Given the description of an element on the screen output the (x, y) to click on. 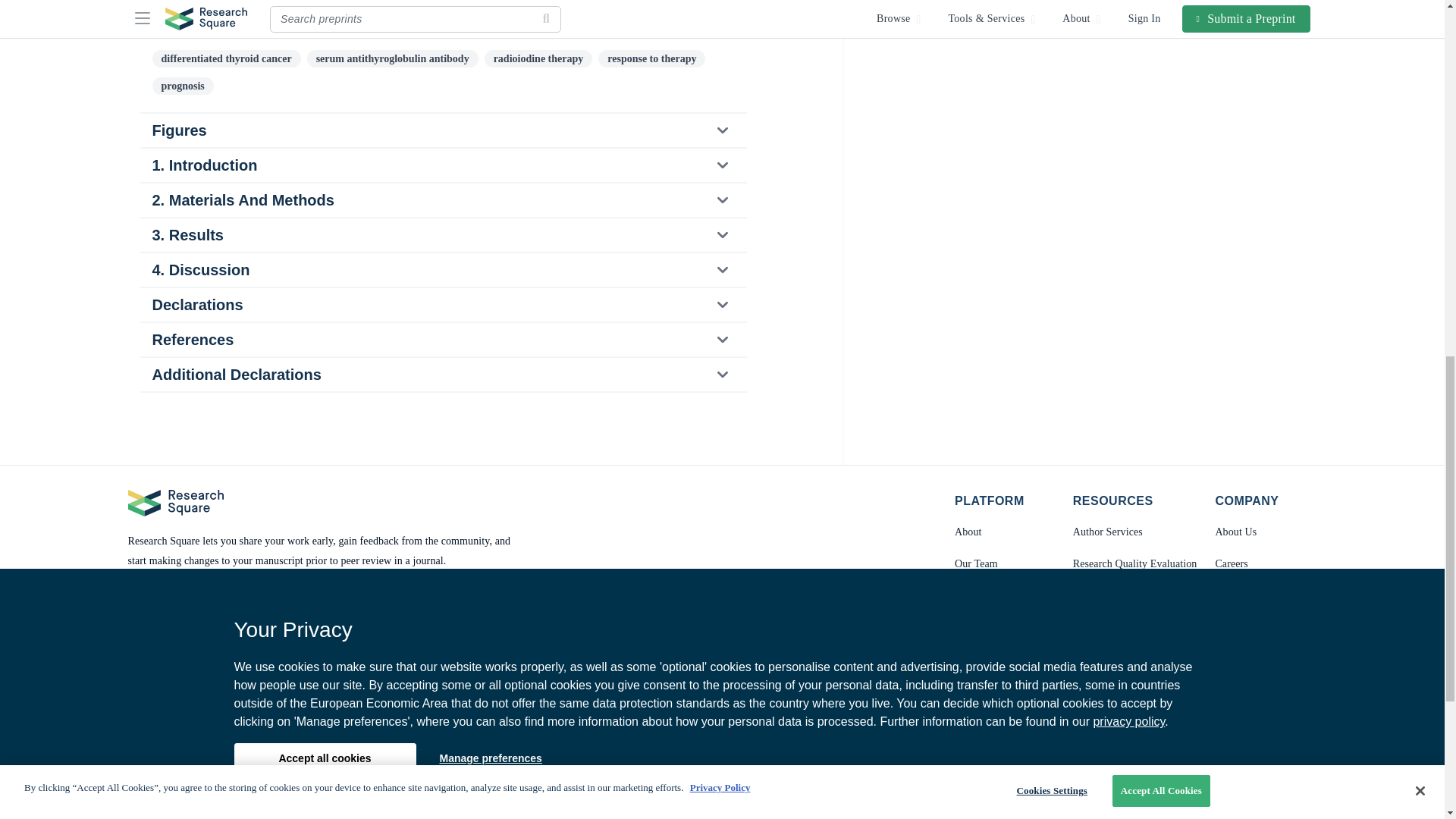
4. Discussion (442, 269)
Declarations (442, 304)
Figures (442, 130)
3. Results (442, 234)
Additional Declarations (442, 374)
References (442, 339)
2. Materials And Methods (442, 200)
1. Introduction (442, 164)
